Given the description of an element on the screen output the (x, y) to click on. 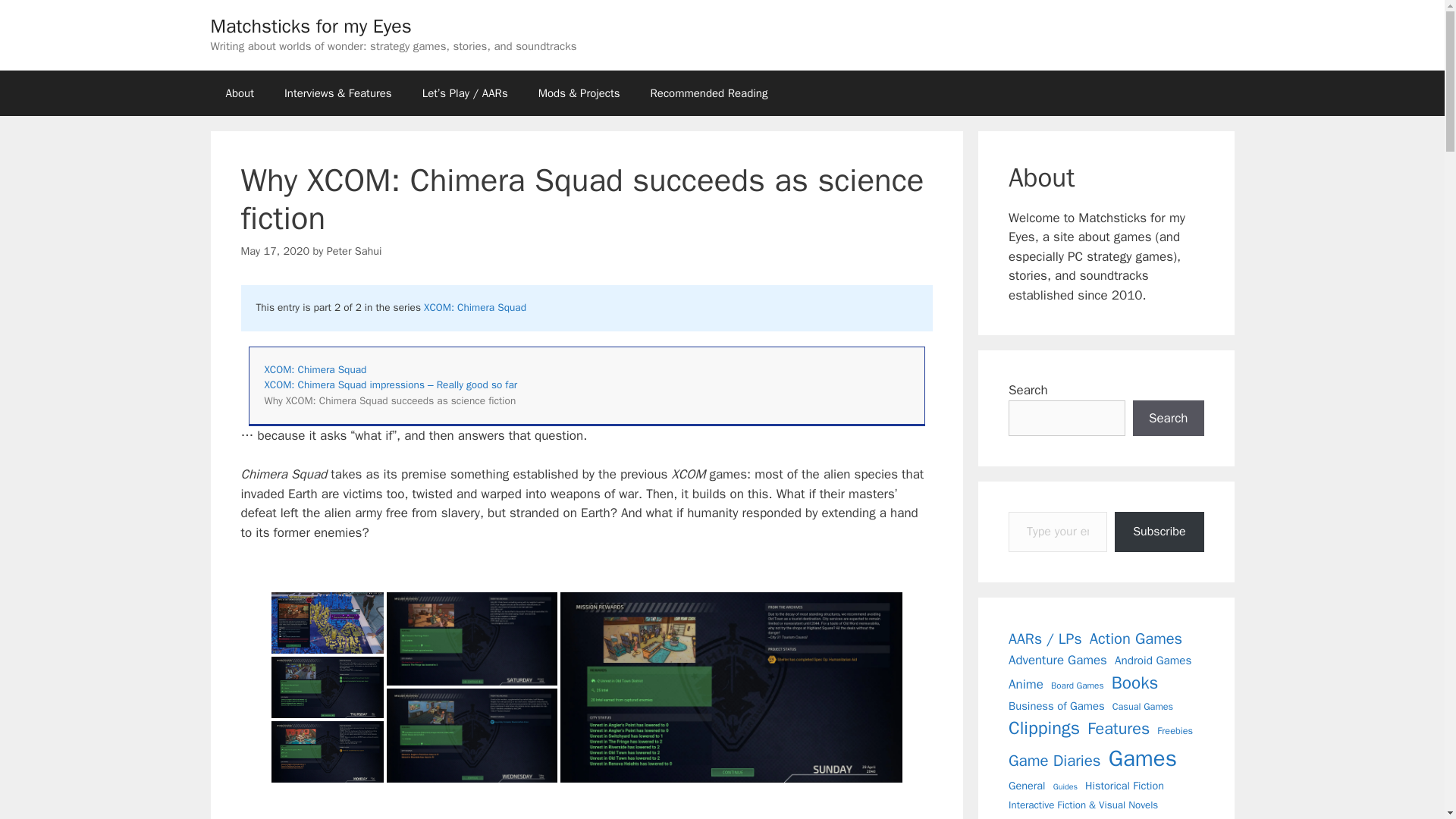
Features (1118, 728)
Recommended Reading (708, 92)
Board Games (1077, 685)
Search (1168, 418)
Subscribe (1159, 531)
View all posts by Peter Sahui (353, 250)
XCOM: Chimera Squad (474, 307)
About (240, 92)
Android Games (1153, 660)
Games (1142, 758)
